Given the description of an element on the screen output the (x, y) to click on. 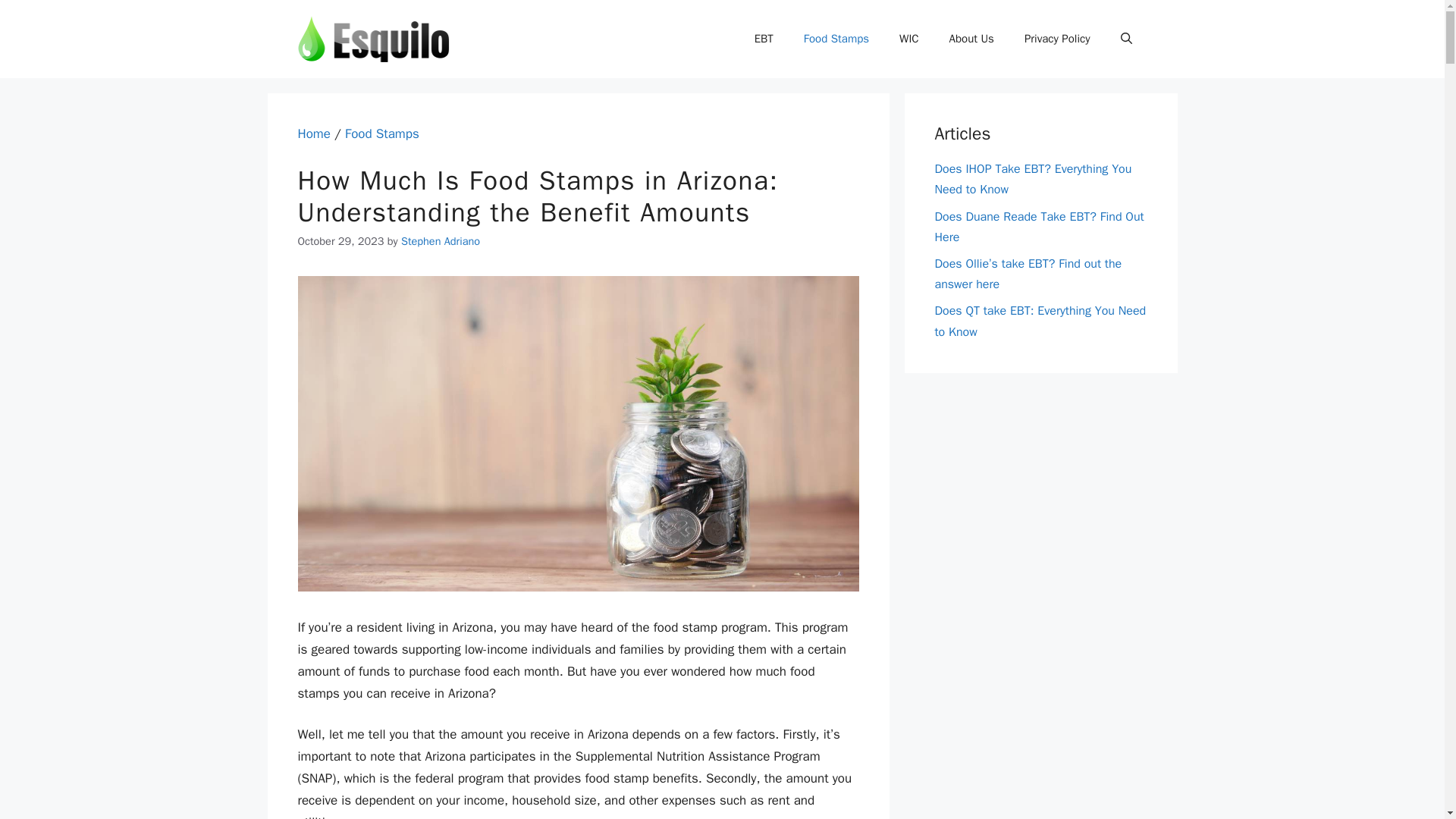
Privacy Policy (1057, 38)
View all posts by Stephen Adriano (440, 241)
Does IHOP Take EBT? Everything You Need to Know (1032, 179)
Home (313, 133)
Does Duane Reade Take EBT? Find Out Here (1038, 226)
Food Stamps (382, 133)
Does QT take EBT: Everything You Need to Know (1039, 321)
WIC (908, 38)
Food Stamps (836, 38)
Stephen Adriano (440, 241)
EBT (764, 38)
About Us (971, 38)
